Given the description of an element on the screen output the (x, y) to click on. 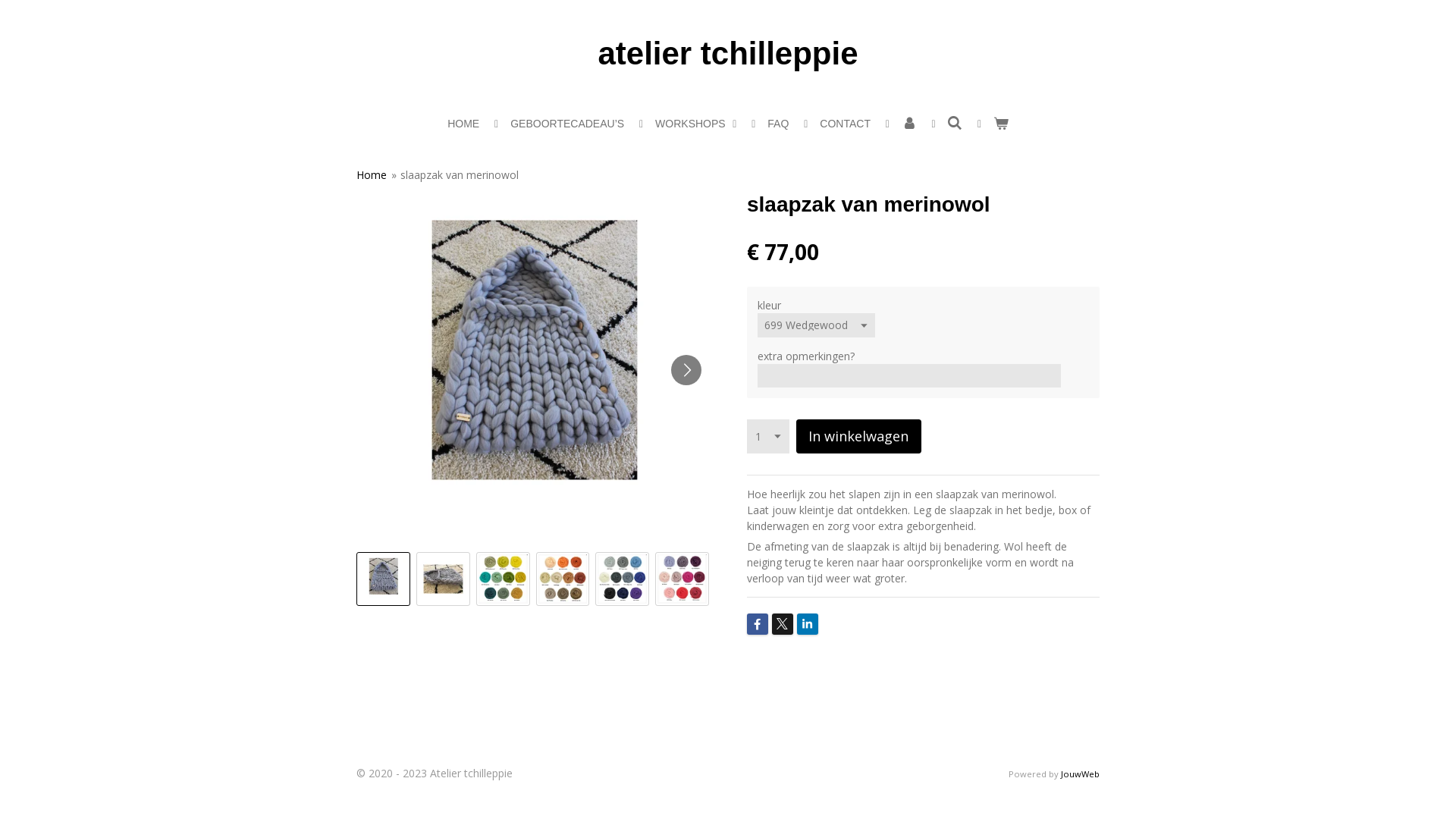
Bekijk winkelwagen Element type: hover (1000, 123)
atelier tchilleppie Element type: text (727, 53)
FAQ Element type: text (778, 123)
CONTACT Element type: text (844, 123)
Account Element type: hover (909, 123)
WORKSHOPS Element type: text (695, 123)
In winkelwagen Element type: text (858, 436)
JouwWeb Element type: text (1079, 773)
Home Element type: text (371, 174)
slaapzak van merinowol Element type: text (459, 174)
HOME Element type: text (463, 123)
Zoeken Element type: hover (955, 123)
